Given the description of an element on the screen output the (x, y) to click on. 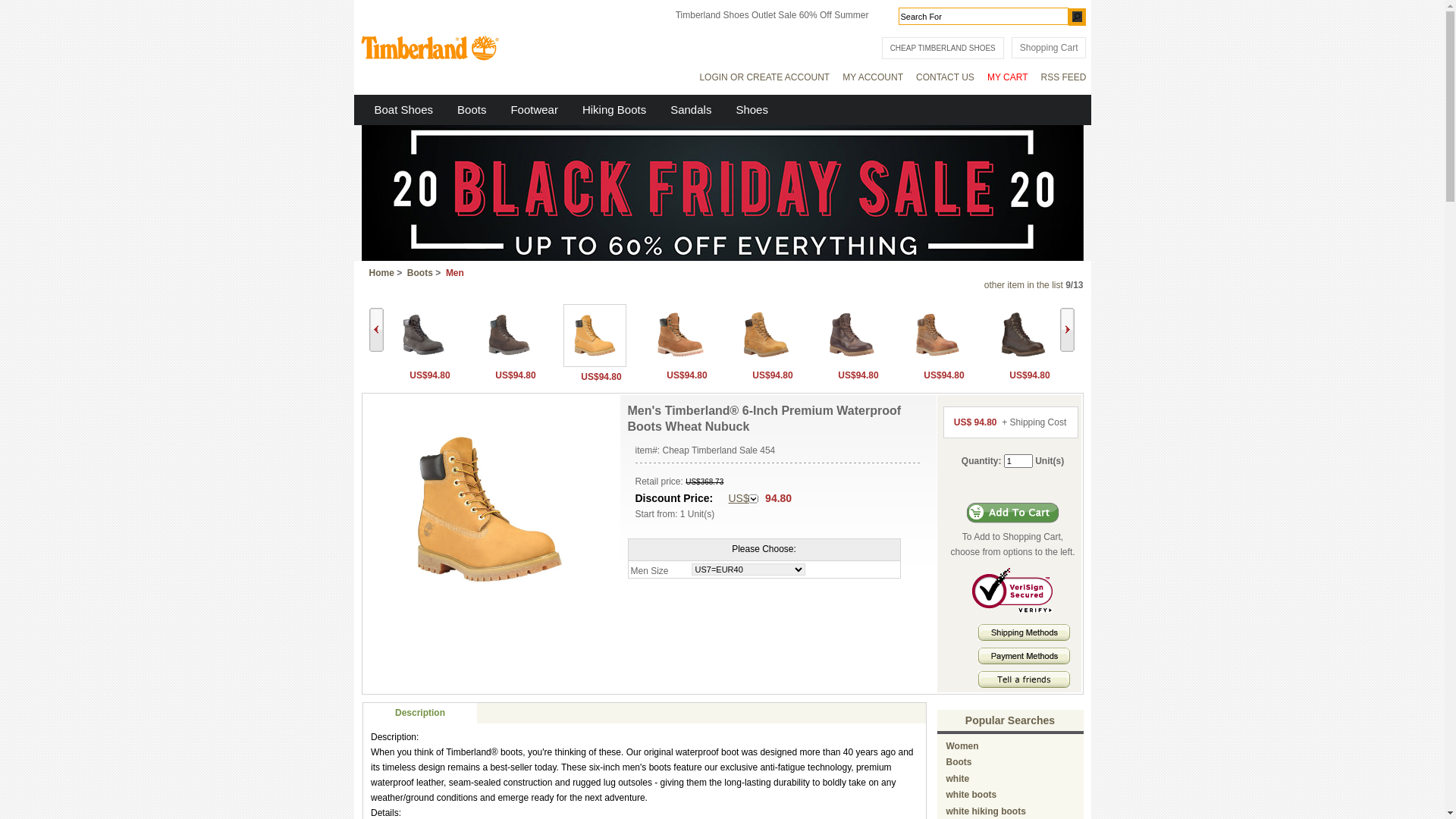
Home Element type: text (380, 271)
MY CART Element type: text (1007, 76)
white Element type: text (957, 778)
white hiking boots Element type: text (986, 811)
 Payment Methods  Element type: hover (1024, 655)
 Shipping Methods  Element type: hover (1024, 631)
Women Element type: text (962, 745)
Hiking Boots Element type: text (614, 109)
Footwear Element type: text (533, 109)
black friday timberland Element type: hover (721, 256)
Add to Cart Element type: hover (1012, 512)
 Timberland Outlet Store  Element type: hover (427, 48)
MY ACCOUNT Element type: text (872, 76)
Popular Searches Element type: text (1009, 720)
Boat Shoes Element type: text (403, 109)
GO Element type: text (1076, 16)
white boots Element type: text (971, 794)
Boots Element type: text (959, 761)
Next Element type: hover (1067, 329)
LOGIN OR CREATE ACCOUNT Element type: text (764, 76)
Shoes Element type: text (751, 109)
CONTACT US Element type: text (945, 76)
other item in the list Element type: text (1023, 284)
Men Element type: text (454, 271)
Boots Element type: text (420, 271)
Payment methods Element type: hover (1024, 660)
Shopping Cart Element type: text (1048, 47)
Back Element type: hover (375, 329)
Sandals Element type: text (690, 109)
Shipping Methods Element type: hover (1024, 637)
 Tell A Friends  Element type: hover (1024, 678)
Boots Element type: text (471, 109)
RSS FEED Element type: text (1062, 76)
US$ Element type: text (742, 498)
